Given the description of an element on the screen output the (x, y) to click on. 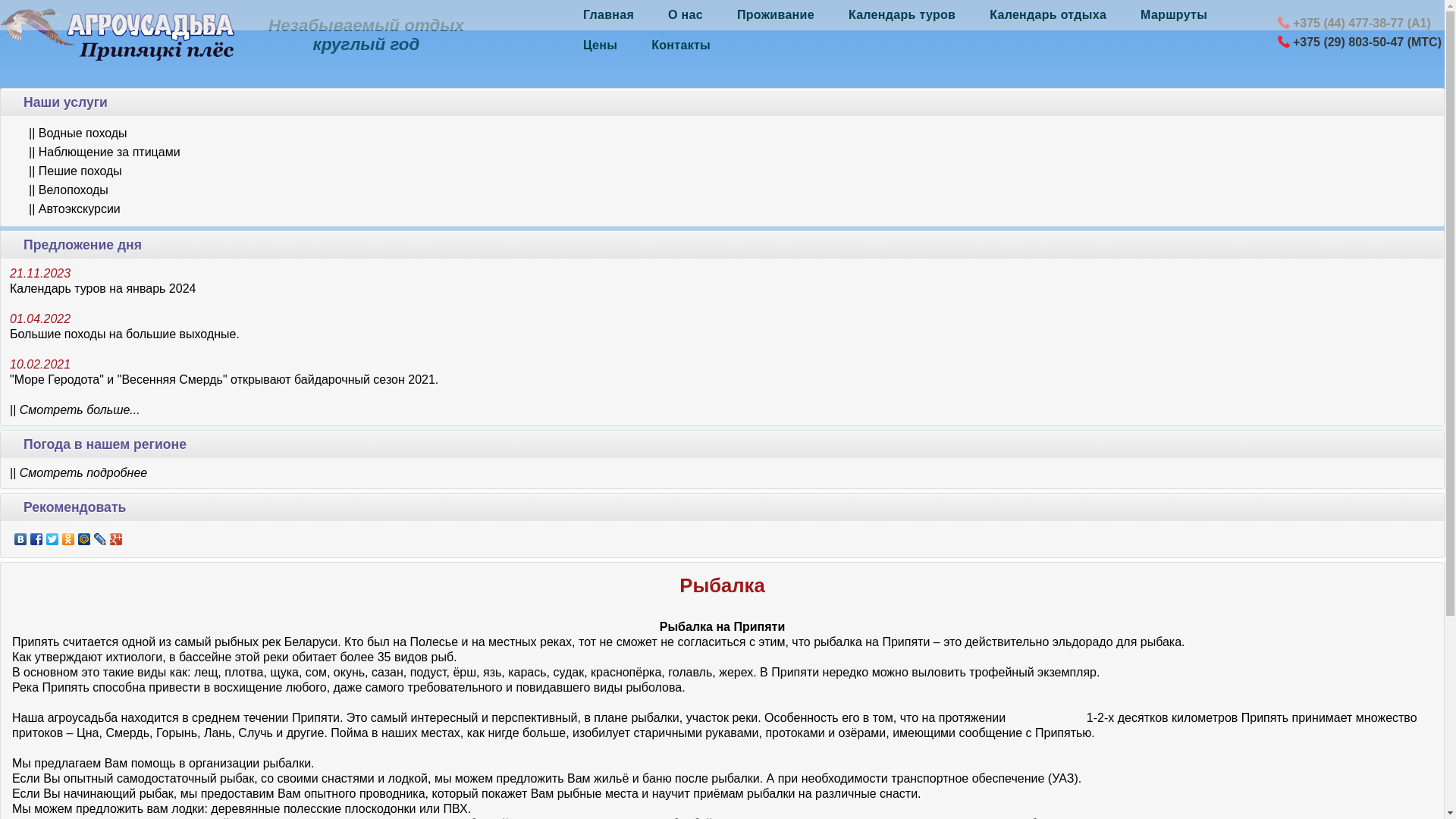
LiveJournal Element type: hover (100, 539)
Facebook Element type: hover (36, 539)
+375 (29) 803-50-47 (MTC) Element type: text (1366, 42)
+375 (44) 477-38-77 (A1) Element type: text (1360, 23)
Twitter Element type: hover (52, 539)
Google Plus Element type: hover (116, 539)
